Given the description of an element on the screen output the (x, y) to click on. 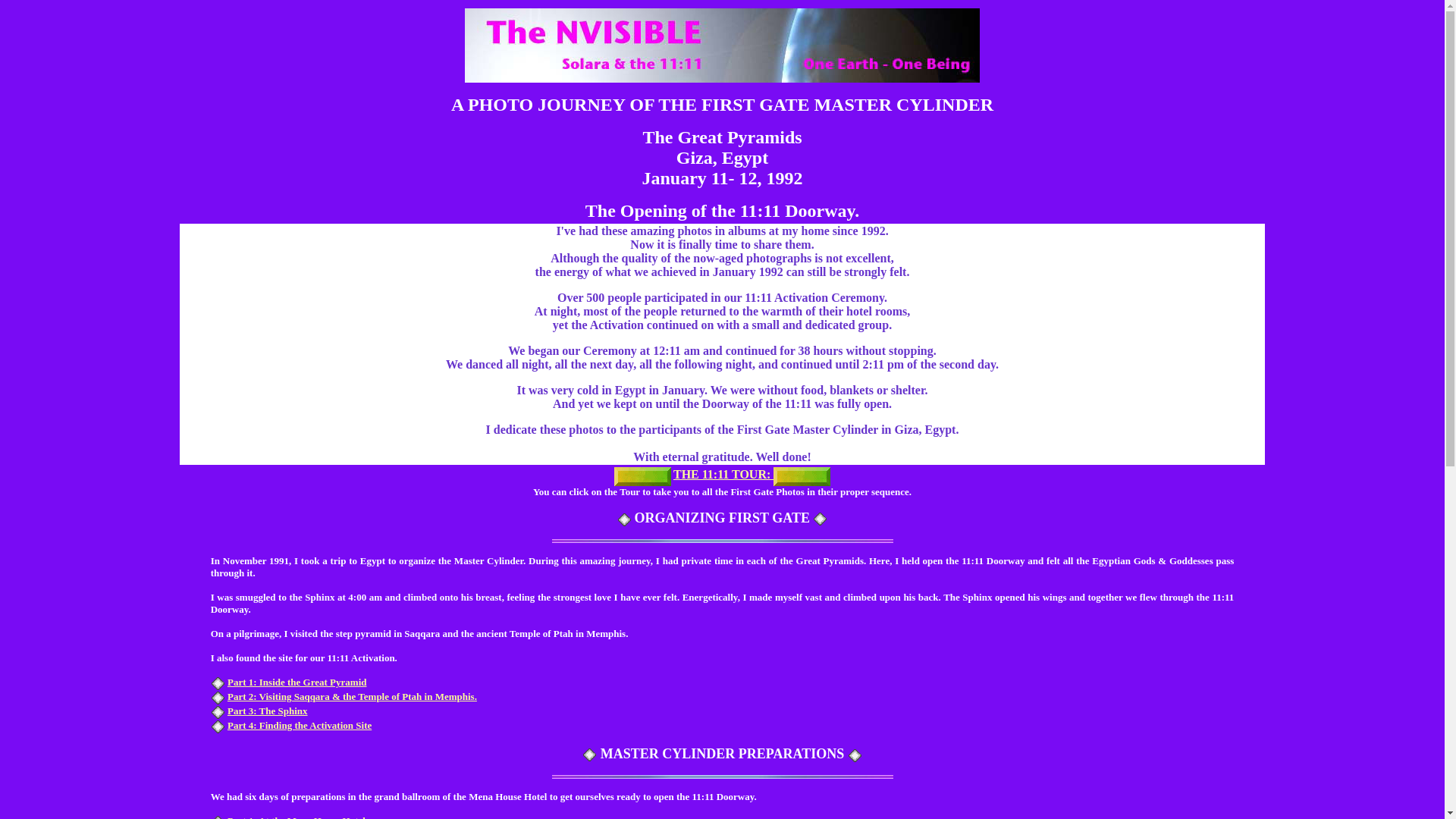
Part 4: Finding the Activation Site (299, 725)
Part 1: At the Mena House Hotel (296, 816)
Part 3: The Sphinx (267, 710)
THE 11:11 TOUR: (722, 474)
Part 1: Inside the Great Pyramid (296, 681)
